Given the description of an element on the screen output the (x, y) to click on. 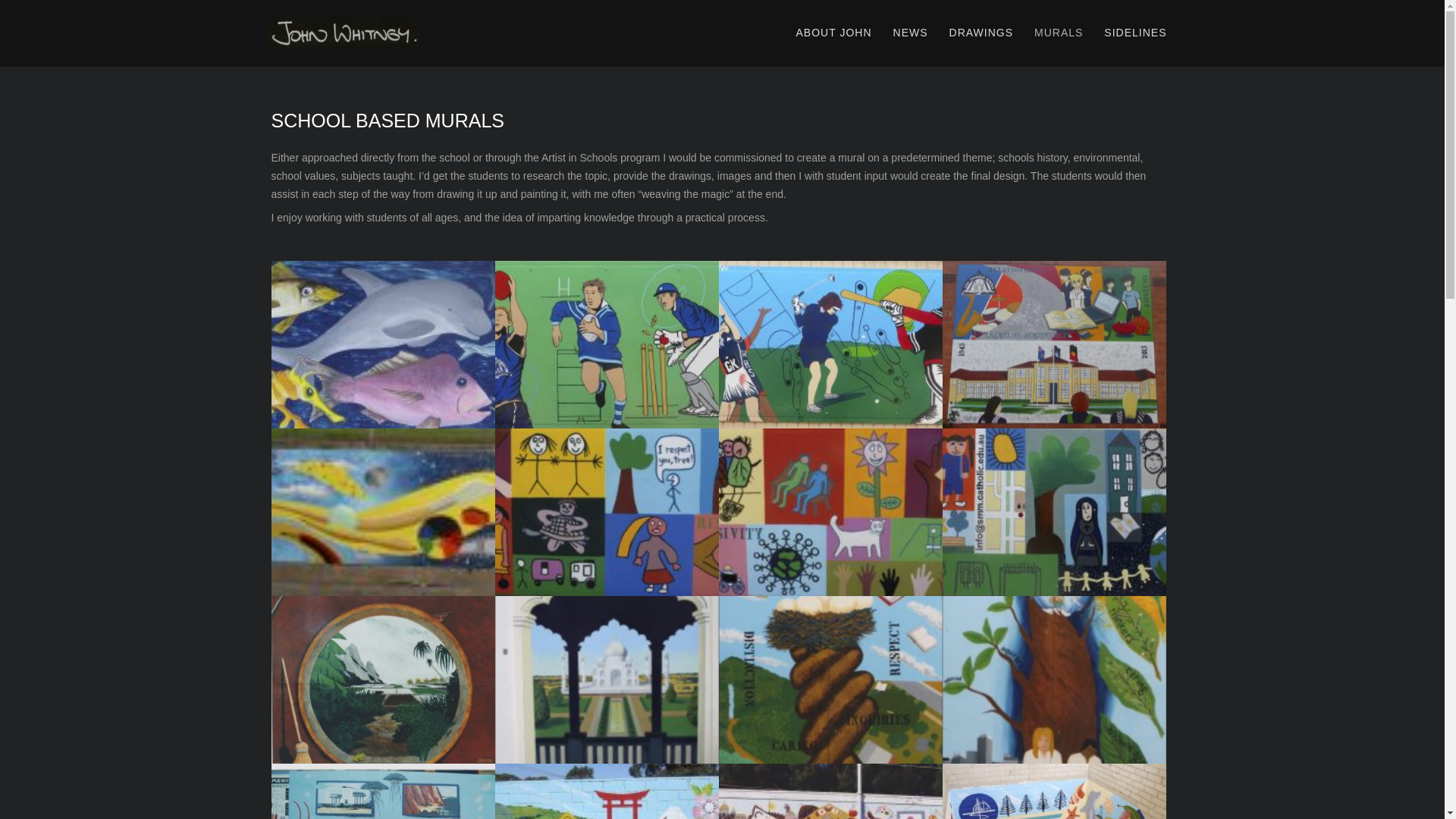
SIDELINES Element type: text (1134, 32)
NEWS Element type: text (910, 32)
DRAWINGS Element type: text (980, 32)
MURALS Element type: text (1058, 32)
ABOUT JOHN Element type: text (833, 32)
